Given the description of an element on the screen output the (x, y) to click on. 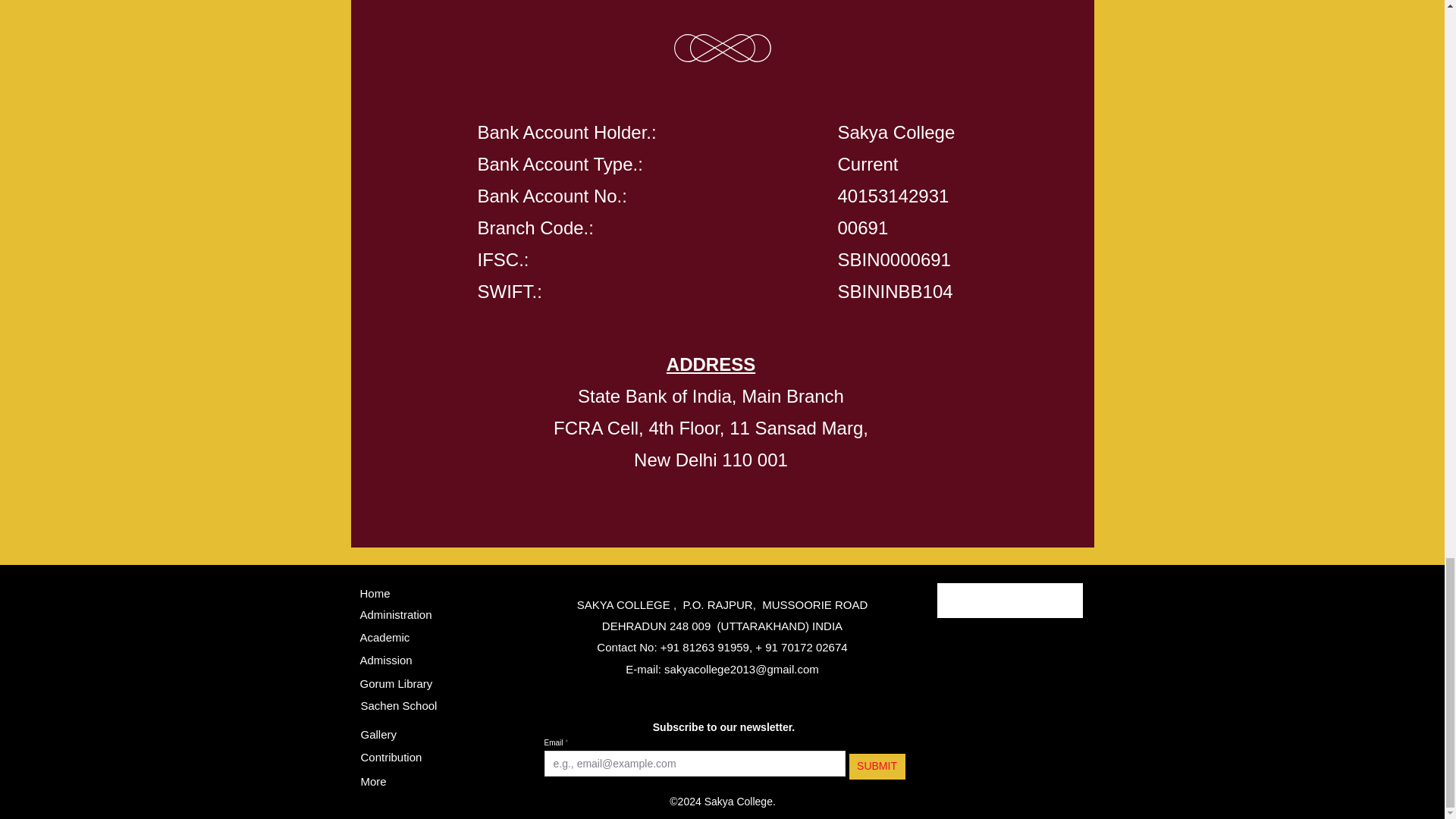
Academic (384, 636)
Home (374, 593)
Administration (394, 614)
